Given the description of an element on the screen output the (x, y) to click on. 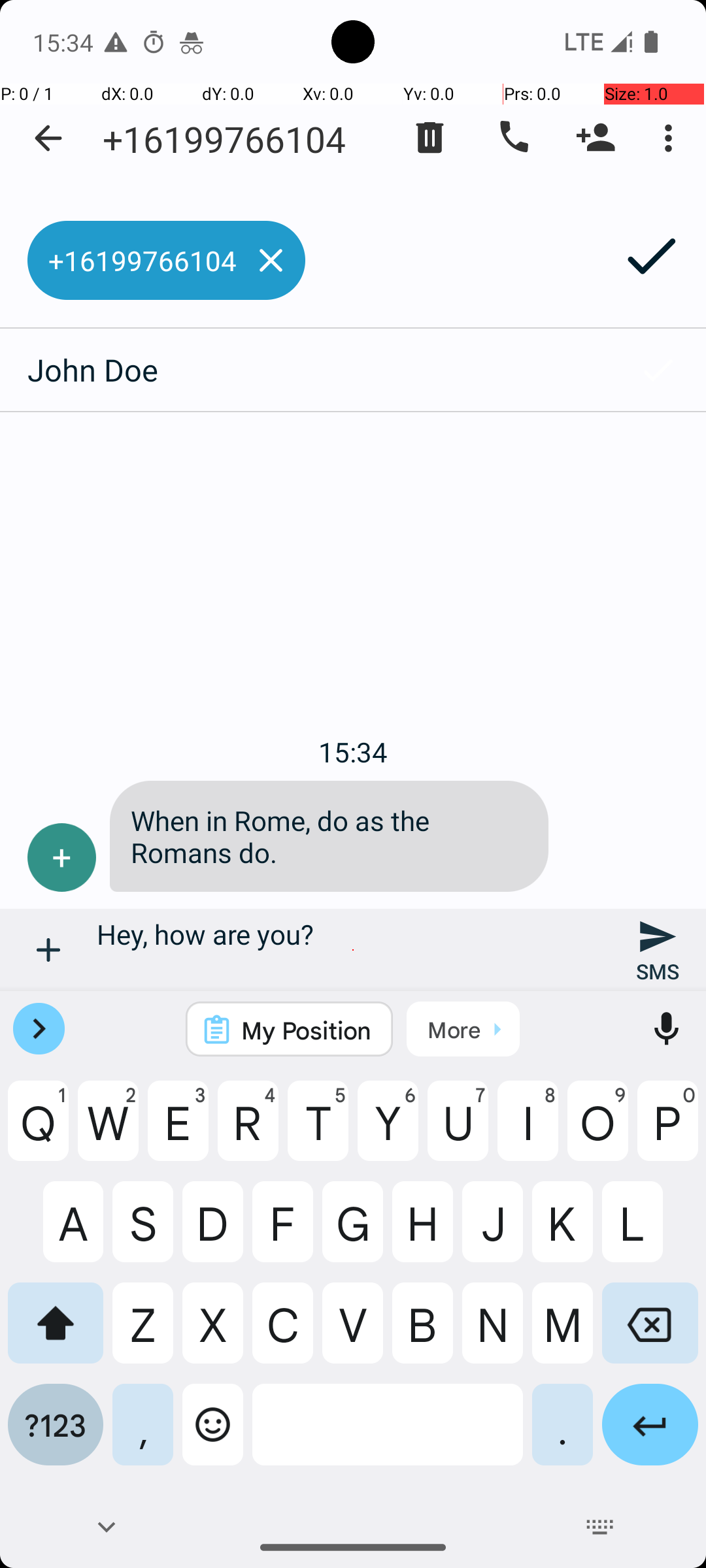
+16199766104 Element type: android.widget.TextView (223, 138)
Dial number Element type: android.widget.Button (512, 137)
Add Person Element type: android.widget.Button (595, 137)
John Doe Element type: android.widget.AutoCompleteTextView (304, 369)
Confirm selection Element type: android.widget.ImageView (657, 369)
Attachment Element type: android.widget.ImageView (48, 949)
Hey, how are you?
 Element type: android.widget.EditText (352, 949)
SMS Element type: android.widget.Button (657, 949)
When in Rome, do as the Romans do. Element type: android.widget.TextView (328, 835)
